Given the description of an element on the screen output the (x, y) to click on. 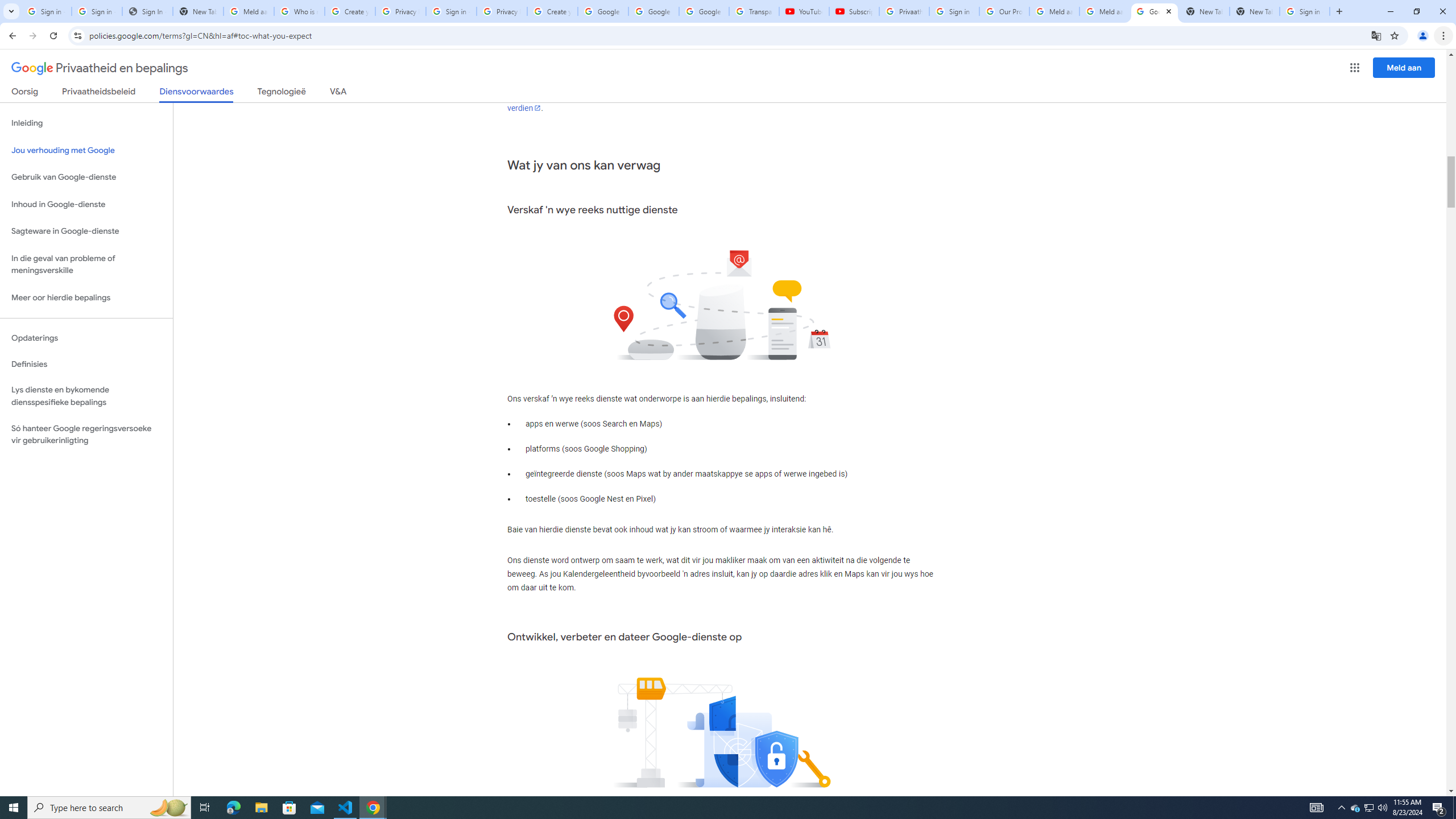
Google-programme (1355, 67)
Sign in - Google Accounts (954, 11)
Translate this page (1376, 35)
Create your Google Account (552, 11)
V&A (337, 93)
Sign in - Google Accounts (1304, 11)
